Given the description of an element on the screen output the (x, y) to click on. 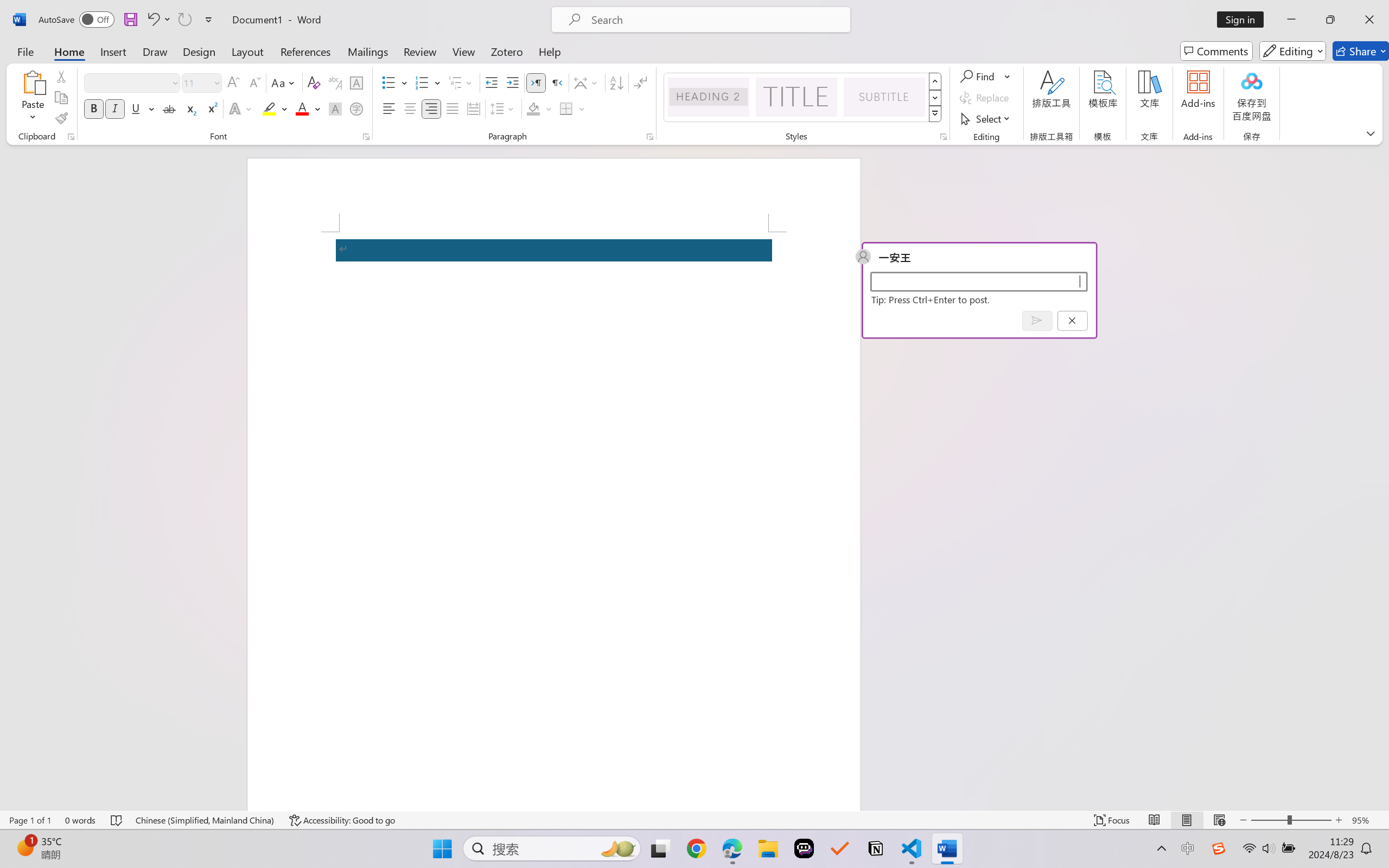
Subtitle (883, 96)
Sign in (1244, 19)
